Given the description of an element on the screen output the (x, y) to click on. 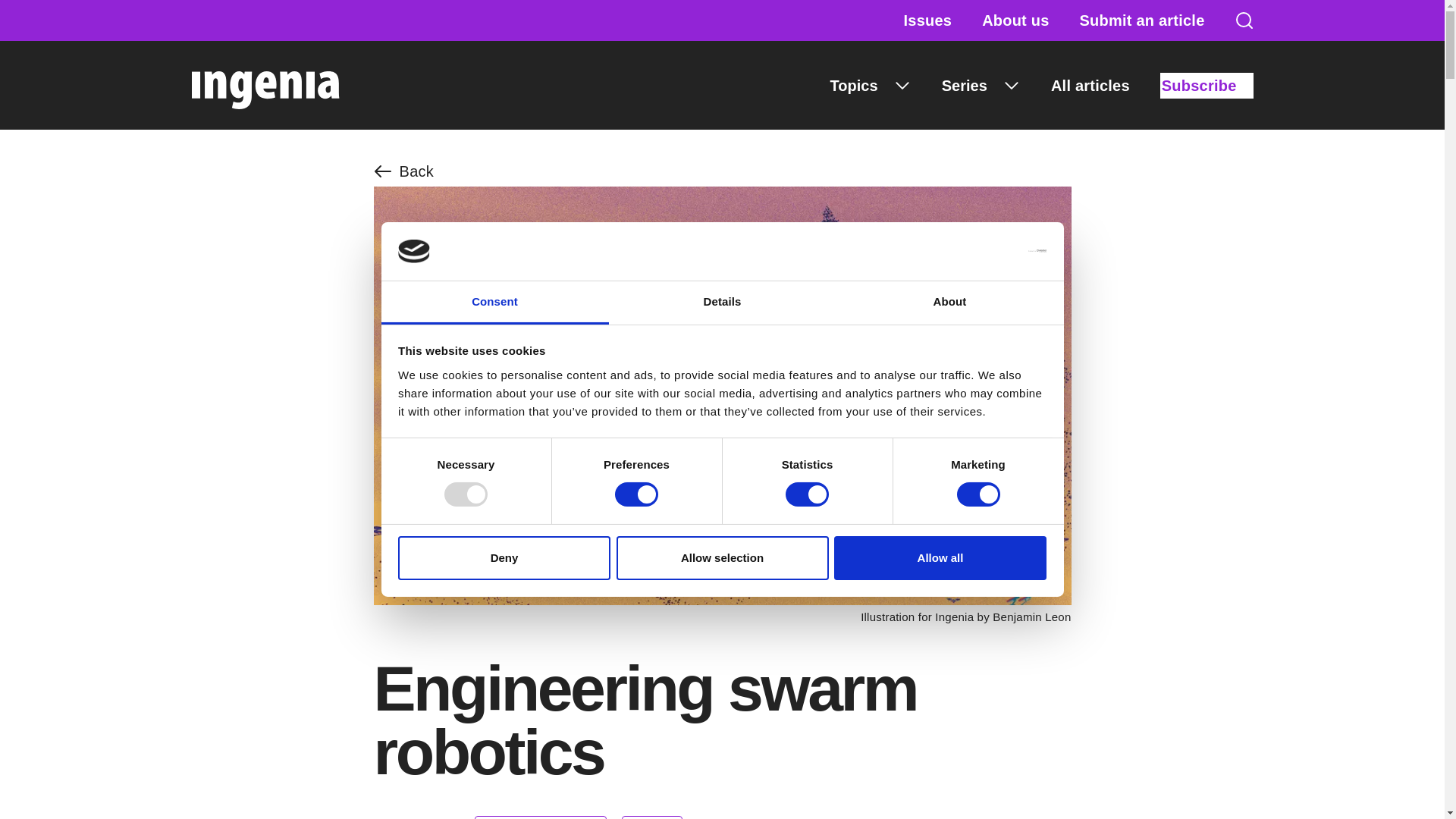
Home (264, 85)
About (948, 302)
Deny (503, 557)
Details (721, 302)
Consent (494, 302)
